Given the description of an element on the screen output the (x, y) to click on. 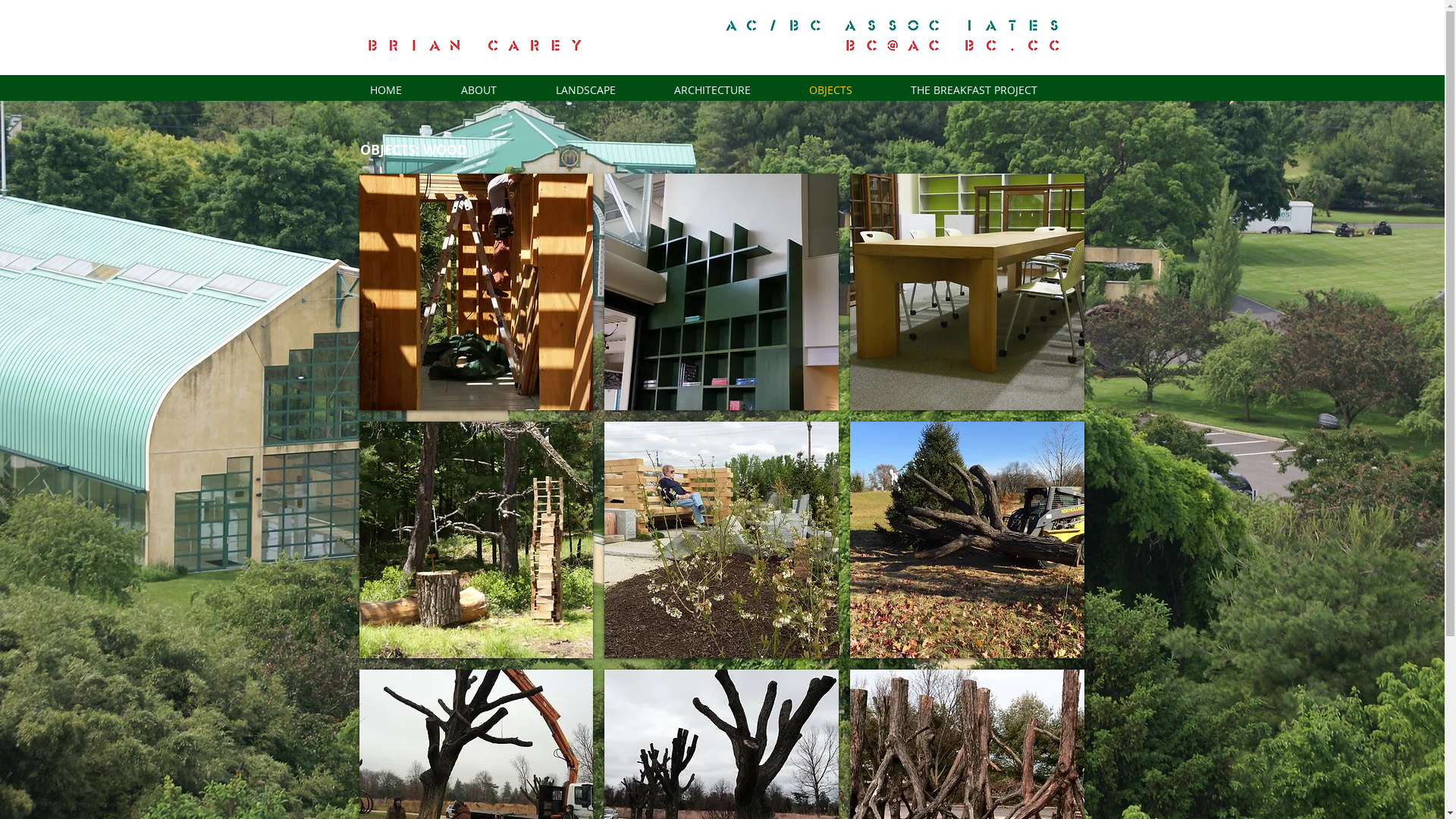
THE BREAKFAST PROJECT Element type: text (991, 89)
HOME Element type: text (402, 89)
LANDSCAPE Element type: text (603, 89)
OBJECTS Element type: text (848, 89)
ARCHITECTURE Element type: text (729, 89)
Banner cropped.png Element type: hover (718, 34)
ABOUT Element type: text (495, 89)
